Given the description of an element on the screen output the (x, y) to click on. 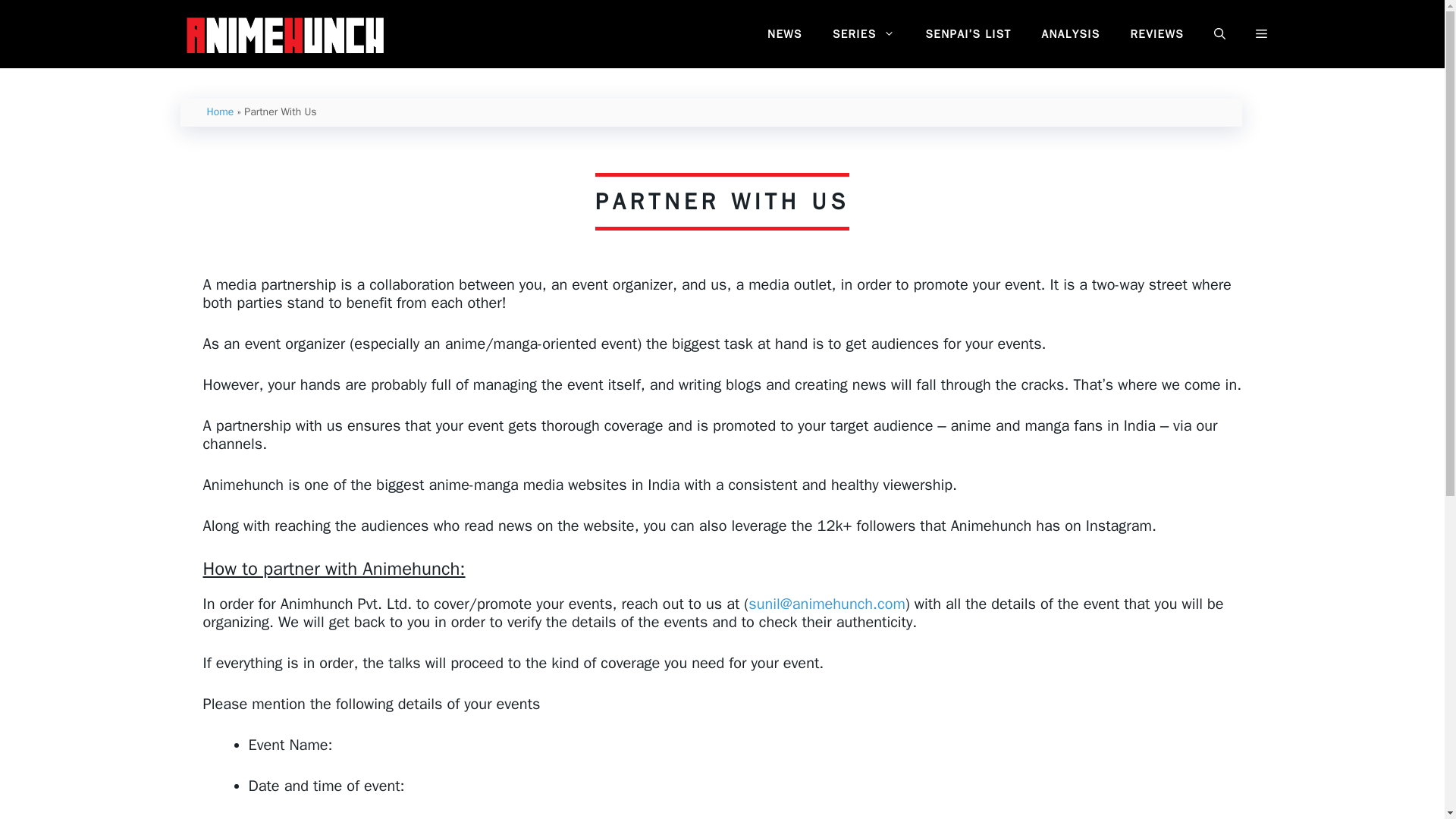
REVIEWS (1156, 34)
NEWS (784, 34)
SERIES (863, 34)
ANALYSIS (1070, 34)
